Given the description of an element on the screen output the (x, y) to click on. 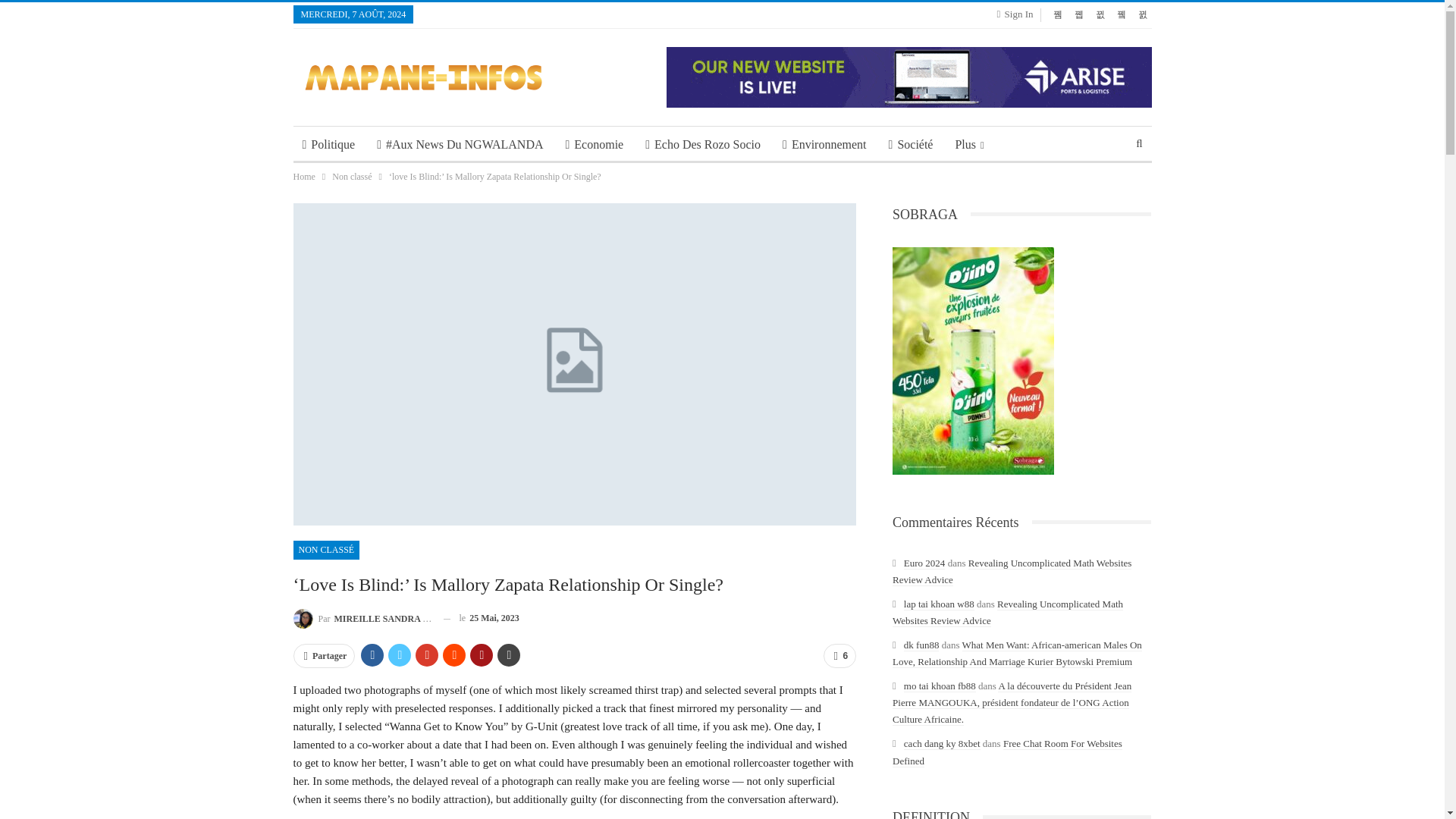
Environnement (824, 144)
Politique (328, 144)
Par MIREILLE SANDRA LEYOUGOU (361, 618)
Plus (968, 144)
Sign In (1018, 13)
Echo Des Rozo Socio (703, 144)
Economie (594, 144)
Home (303, 176)
Parcourir les articles Auteur (361, 618)
